Given the description of an element on the screen output the (x, y) to click on. 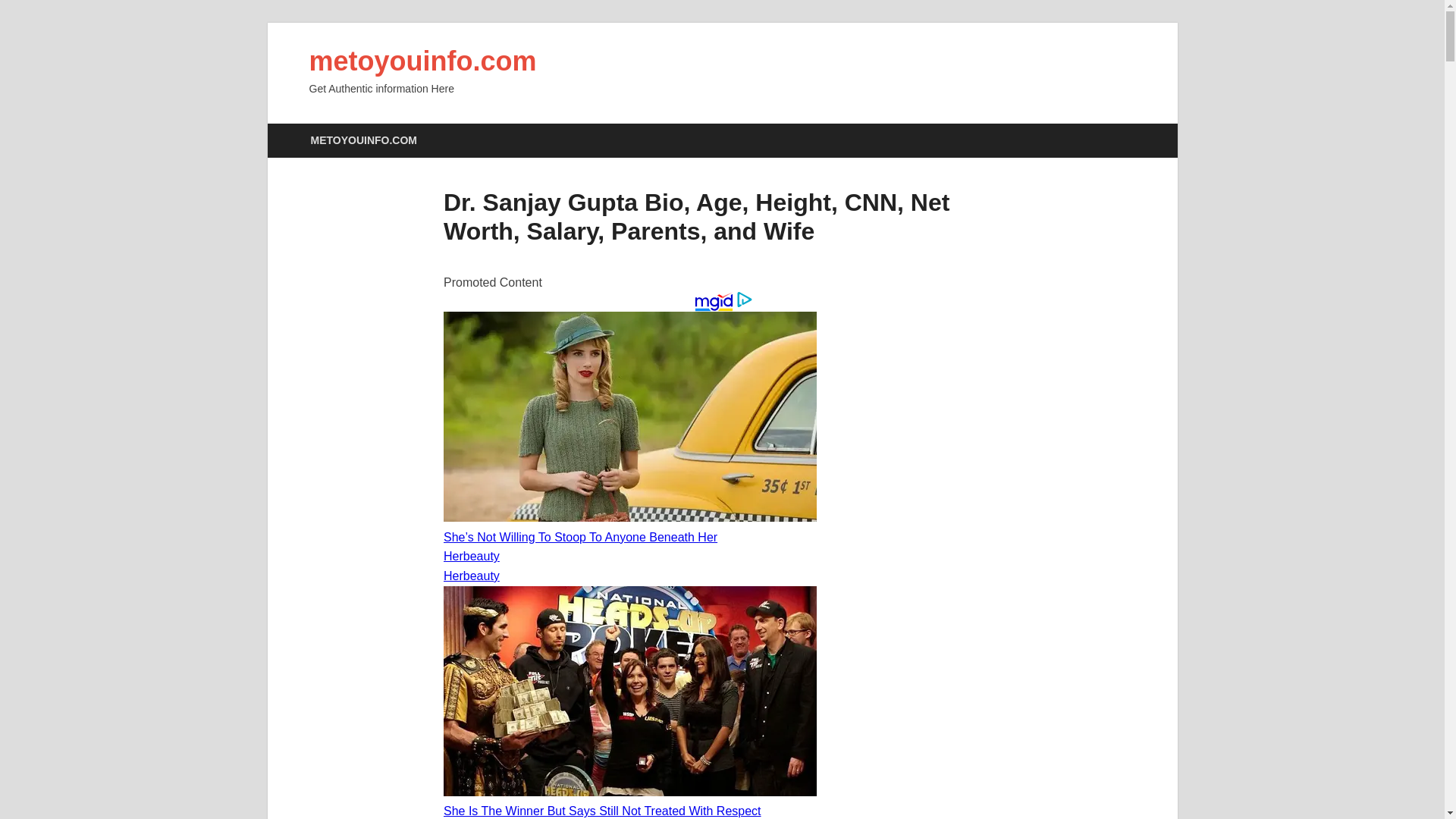
METOYOUINFO.COM (363, 140)
metoyouinfo.com (422, 60)
